Given the description of an element on the screen output the (x, y) to click on. 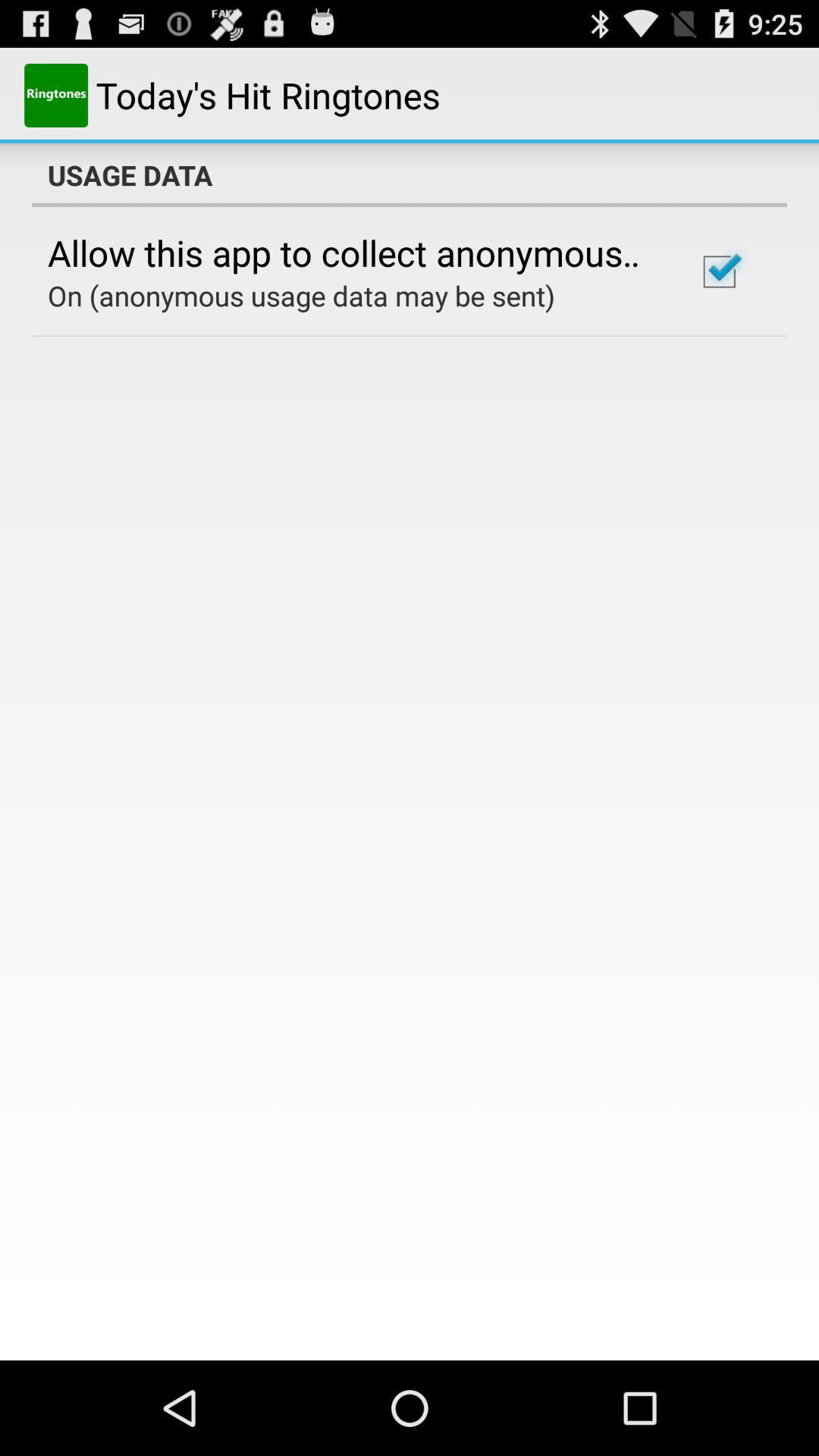
launch icon below usage data icon (719, 271)
